Given the description of an element on the screen output the (x, y) to click on. 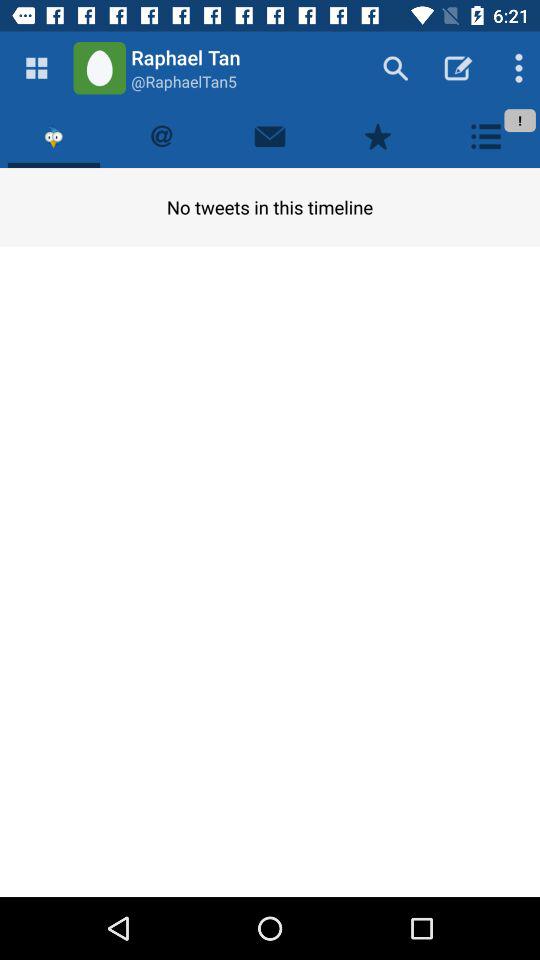
view messages (270, 136)
